Given the description of an element on the screen output the (x, y) to click on. 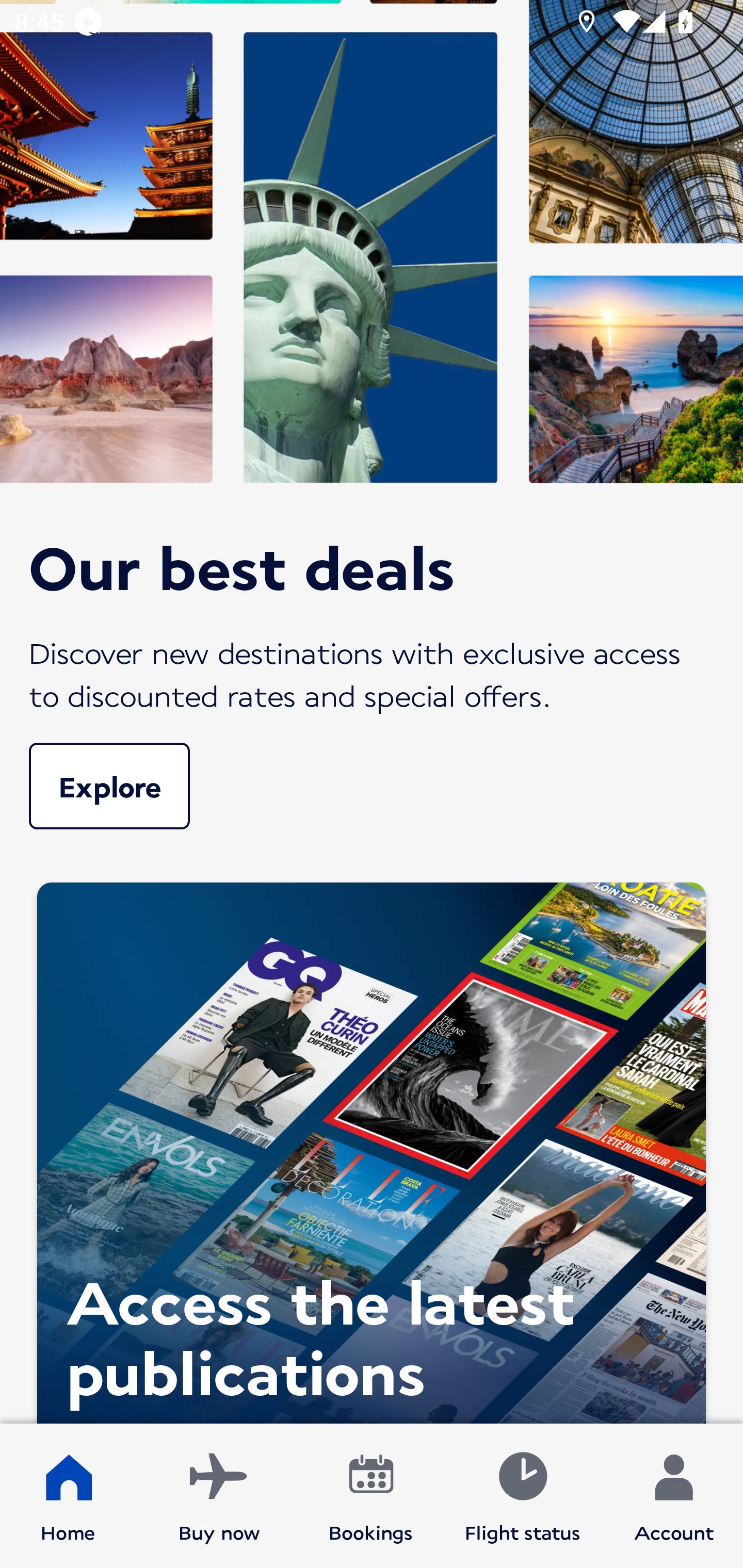
Access the latest publications (371, 1148)
Buy now (219, 1495)
Bookings (370, 1495)
Flight status (522, 1495)
Account (674, 1495)
